Given the description of an element on the screen output the (x, y) to click on. 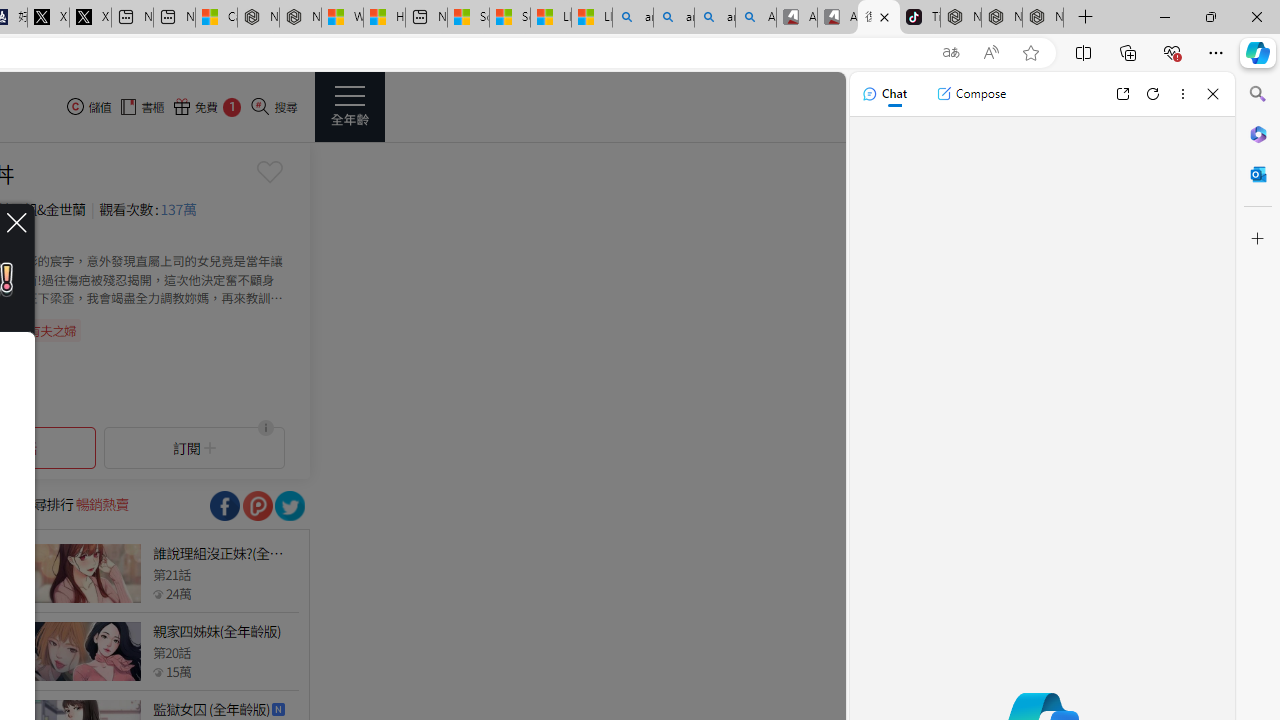
Show translate options (950, 53)
Class: side_menu_btn actionRightMenuBtn (349, 106)
Nordace - Best Sellers (960, 17)
Amazon Echo Robot - Search Images (755, 17)
